Given the description of an element on the screen output the (x, y) to click on. 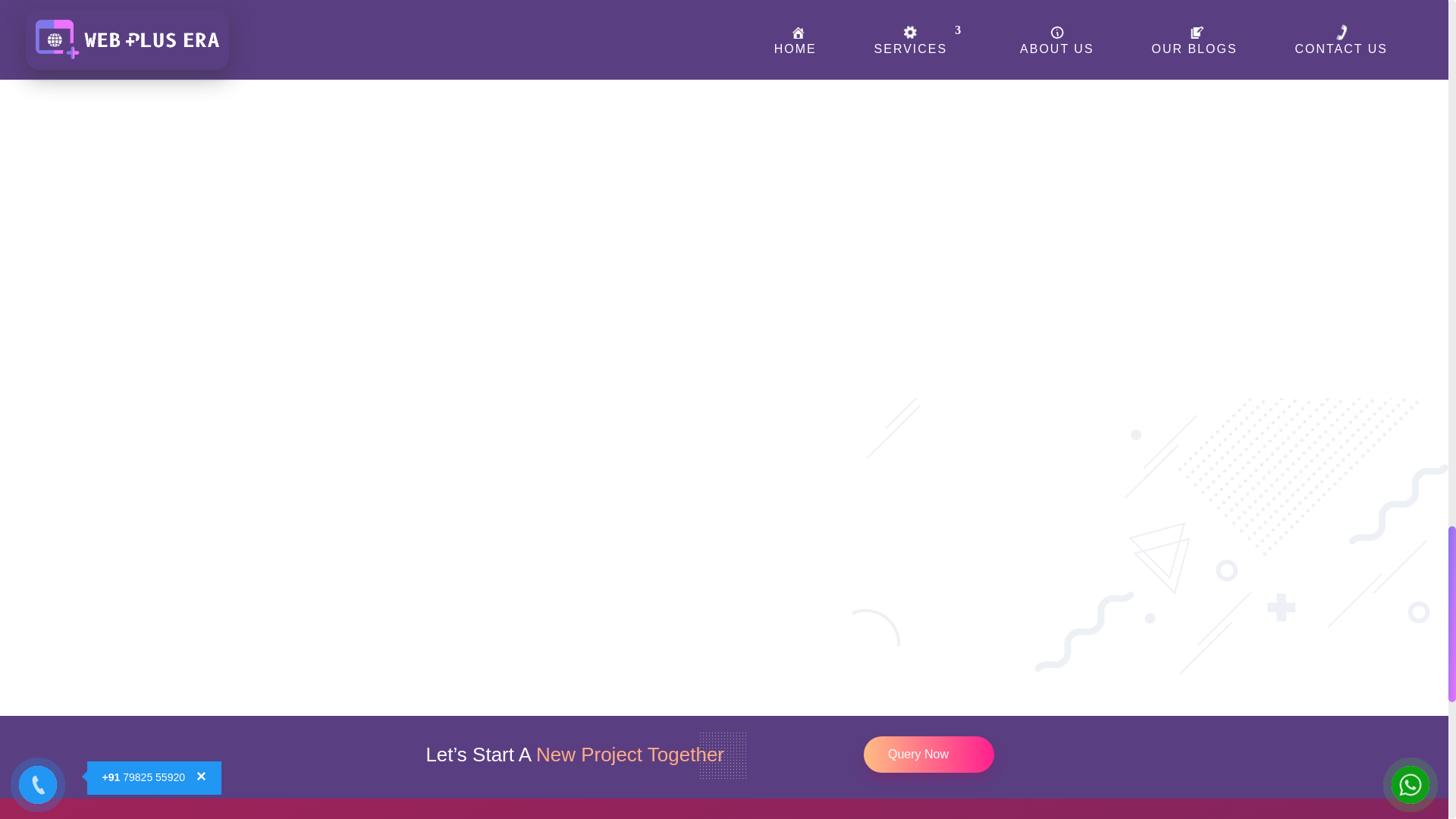
Query Now (928, 753)
